Given the description of an element on the screen output the (x, y) to click on. 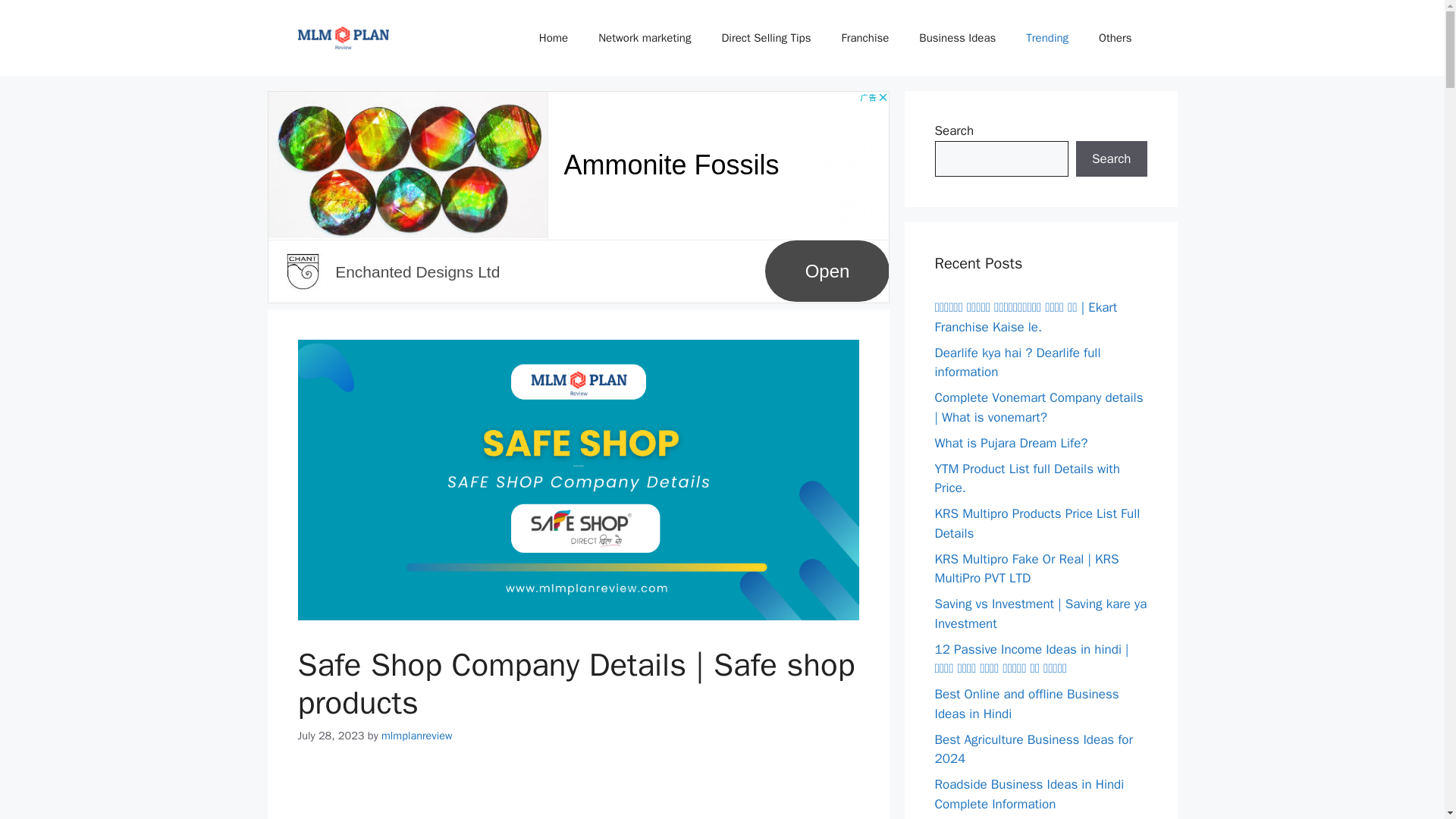
Network marketing (644, 37)
Franchise (864, 37)
Direct Selling Tips (765, 37)
View all posts by mlmplanreview (416, 735)
mlmplanreview (416, 735)
Home (553, 37)
Business Ideas (957, 37)
Others (1115, 37)
Trending (1046, 37)
Advertisement (578, 794)
Advertisement (577, 196)
